Given the description of an element on the screen output the (x, y) to click on. 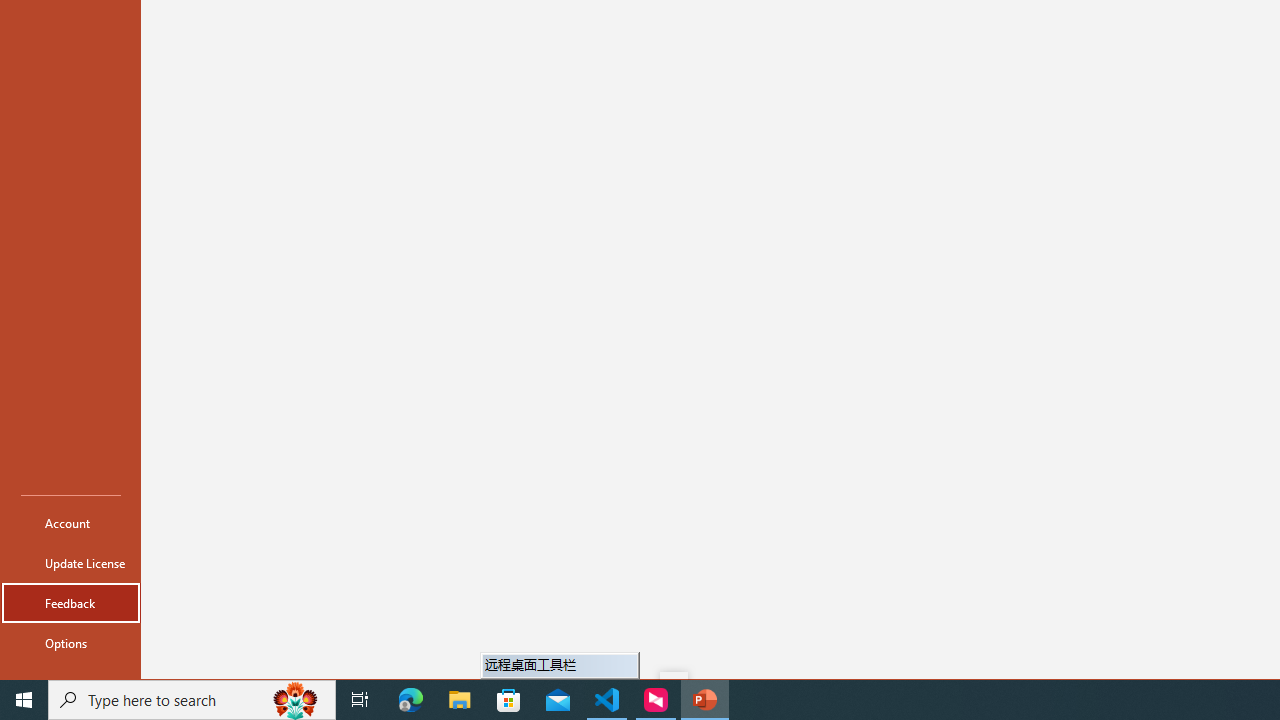
Feedback (70, 602)
Account (70, 522)
Type here to search (191, 699)
PowerPoint - 1 running window (704, 699)
Microsoft Store (509, 699)
Task View (359, 699)
Visual Studio Code - 1 running window (607, 699)
Options (70, 642)
File Explorer (460, 699)
Start (24, 699)
Microsoft Edge (411, 699)
Update License (70, 562)
Search highlights icon opens search home window (295, 699)
